Given the description of an element on the screen output the (x, y) to click on. 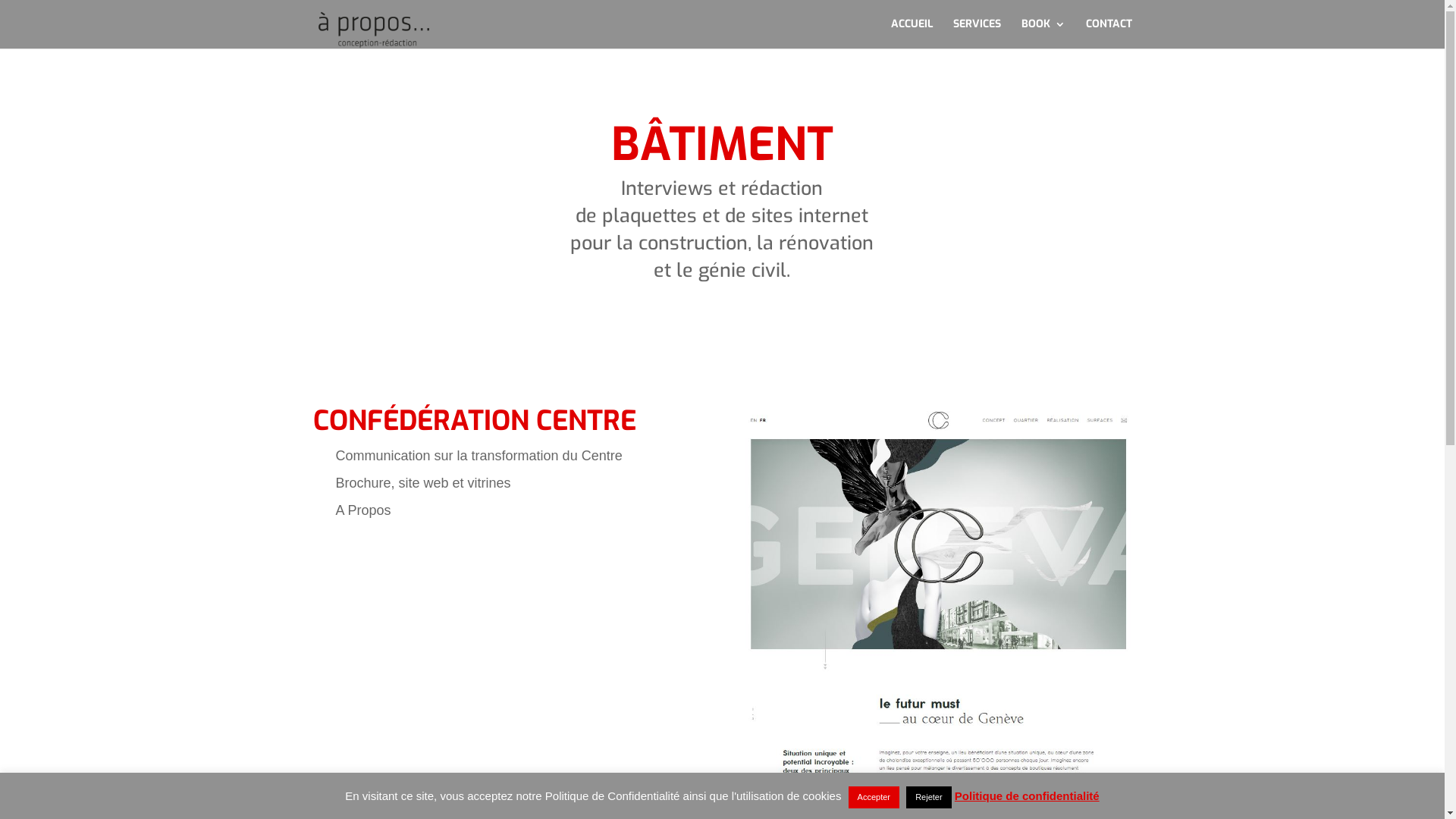
Rejeter Element type: text (928, 797)
CONTACT Element type: text (1108, 33)
ACCUEIL Element type: text (910, 33)
BOOK Element type: text (1042, 33)
Accepter Element type: text (873, 797)
SERVICES Element type: text (976, 33)
